Given the description of an element on the screen output the (x, y) to click on. 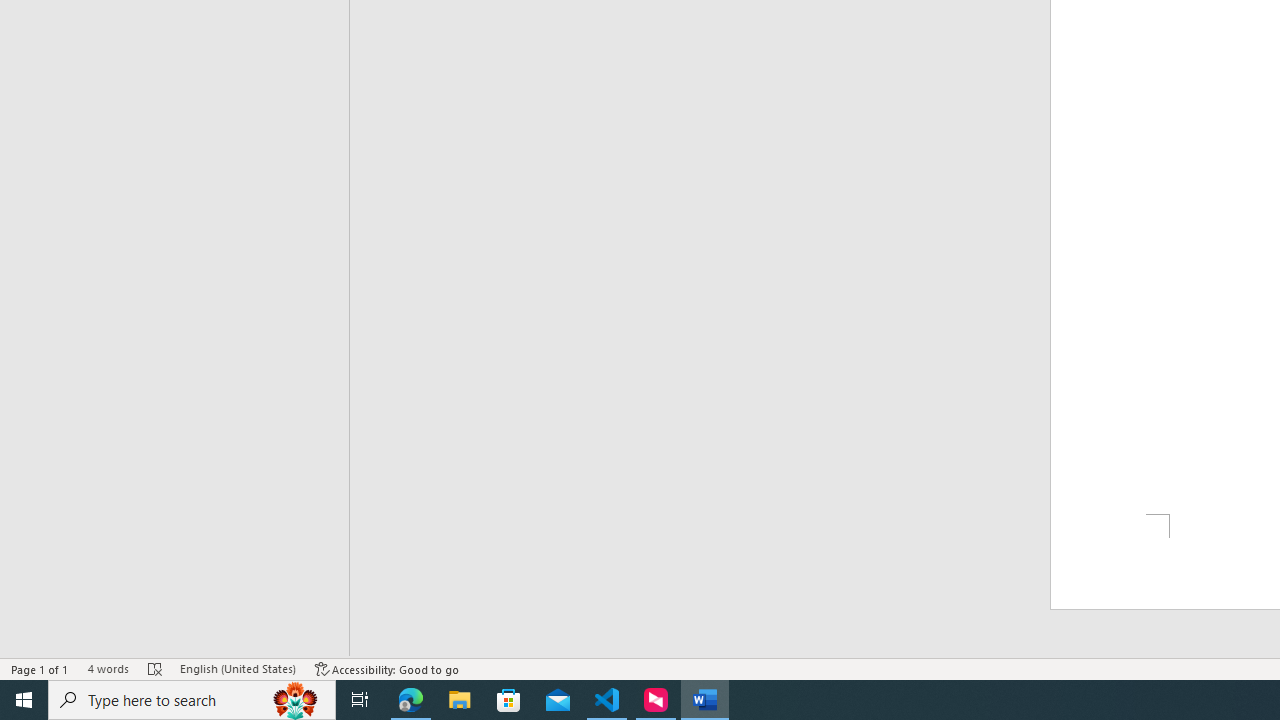
Page Number Page 1 of 1 (39, 668)
Language English (United States) (237, 668)
Accessibility Checker Accessibility: Good to go (387, 668)
Spelling and Grammar Check Errors (155, 668)
